Given the description of an element on the screen output the (x, y) to click on. 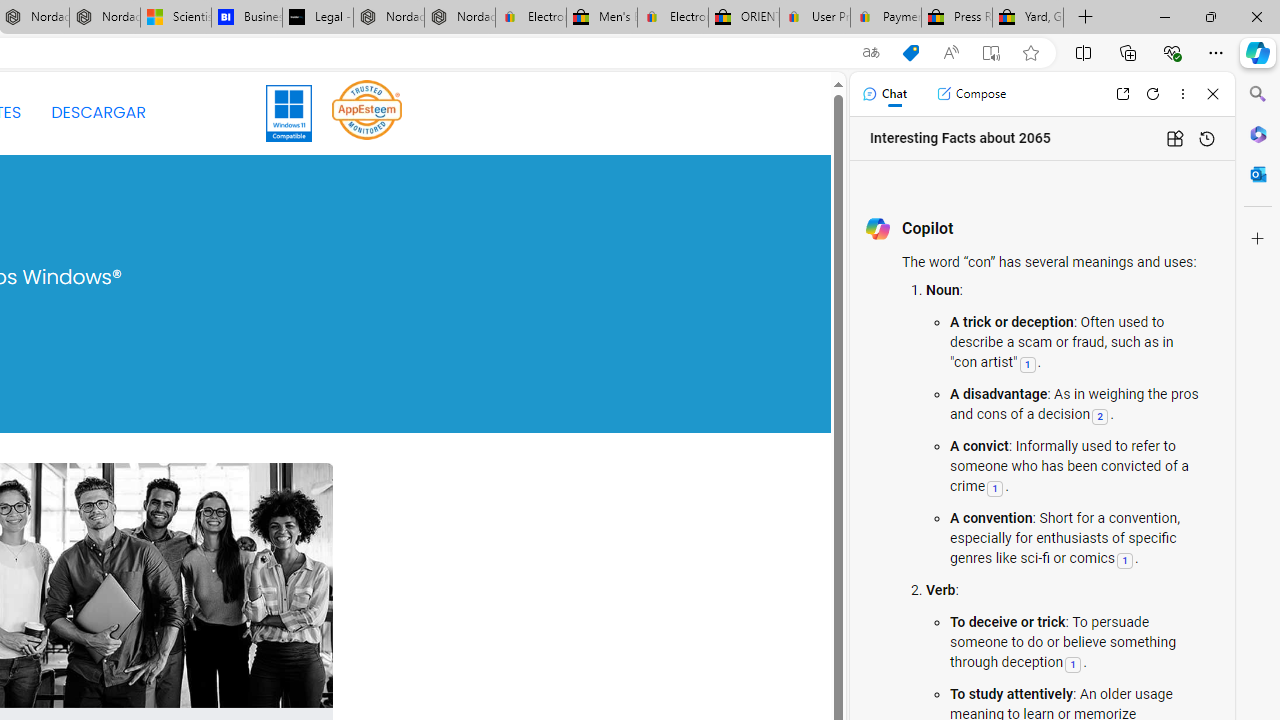
DESCARGAR (98, 112)
User Privacy Notice | eBay (814, 17)
Compose (971, 93)
Payments Terms of Use | eBay.com (886, 17)
Press Room - eBay Inc. (956, 17)
